Given the description of an element on the screen output the (x, y) to click on. 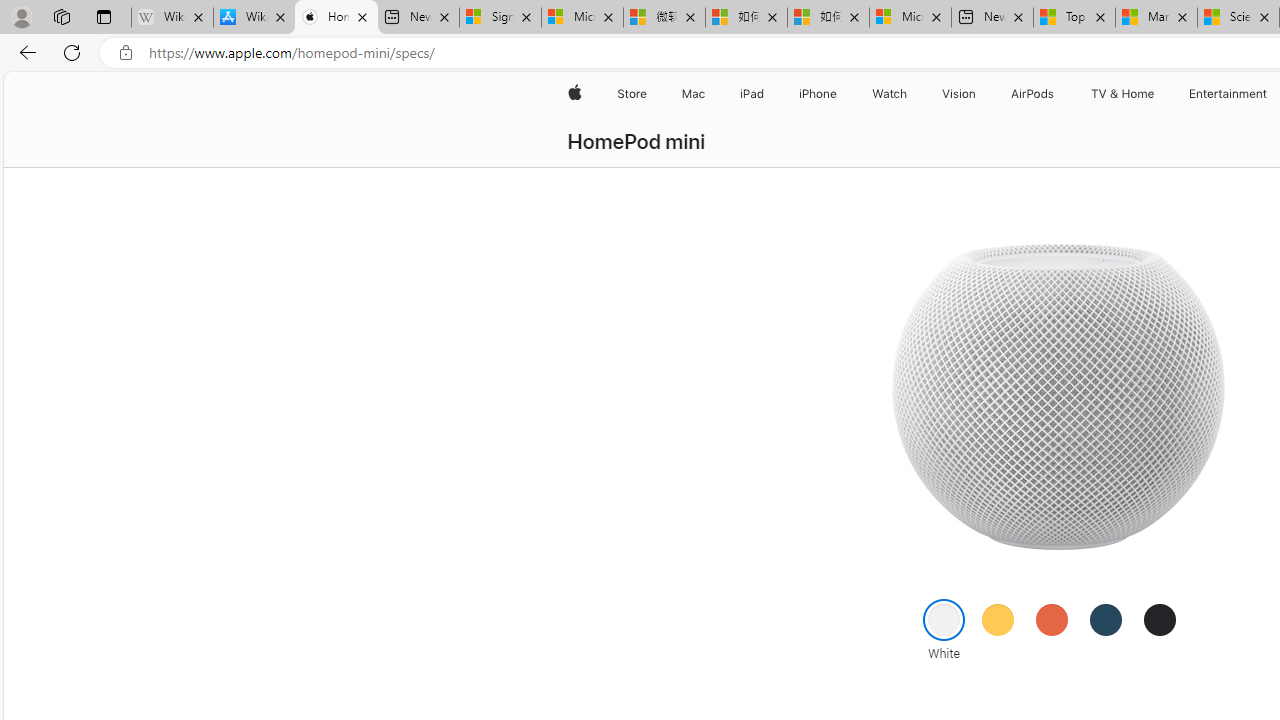
AirPods (1032, 93)
HomePod mini - Technical Specifications - Apple (336, 17)
Watch menu (910, 93)
iPhone menu (840, 93)
Blue (1105, 619)
iPhone (818, 93)
Apple (574, 93)
Mac (692, 93)
Vision menu (980, 93)
